Given the description of an element on the screen output the (x, y) to click on. 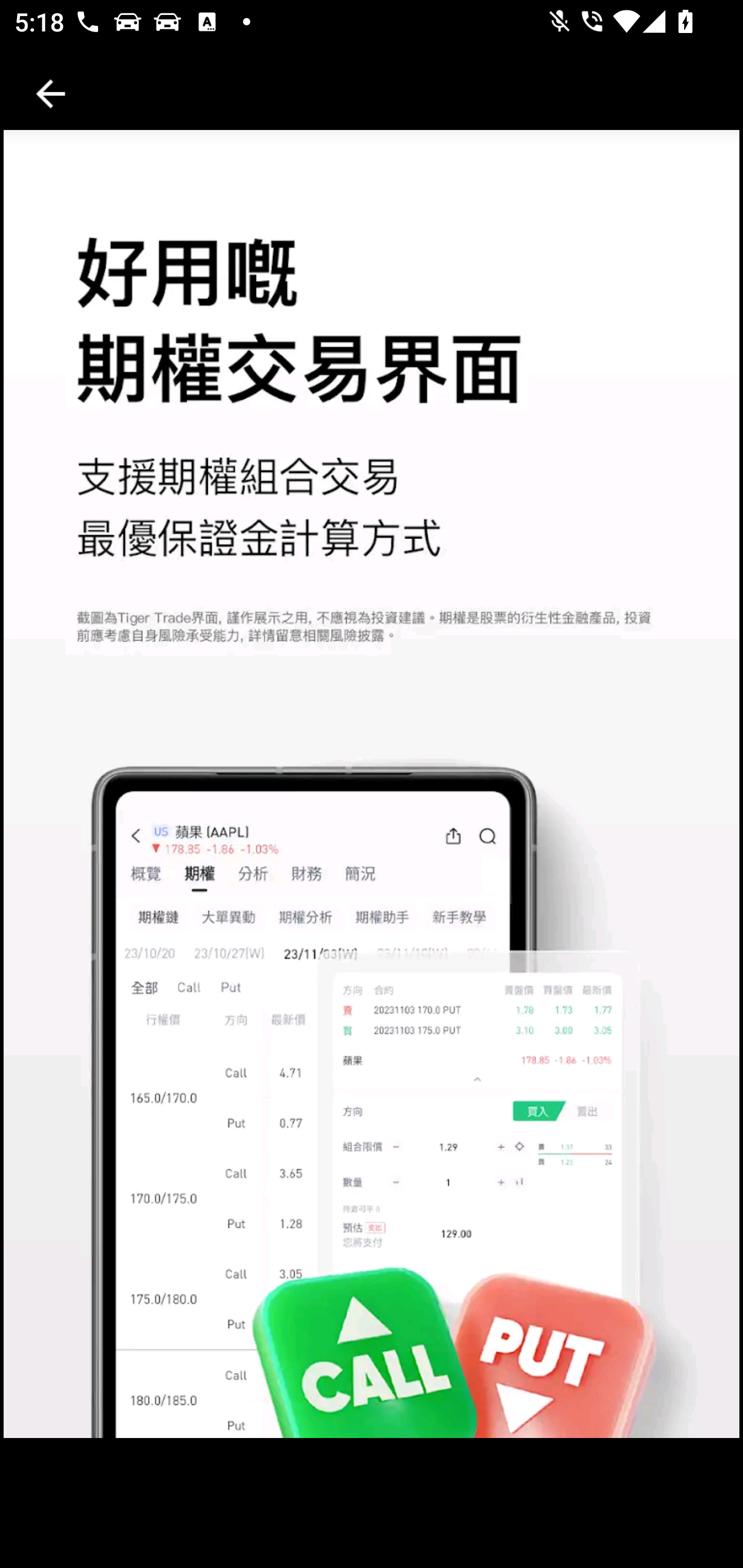
Back (50, 93)
